Given the description of an element on the screen output the (x, y) to click on. 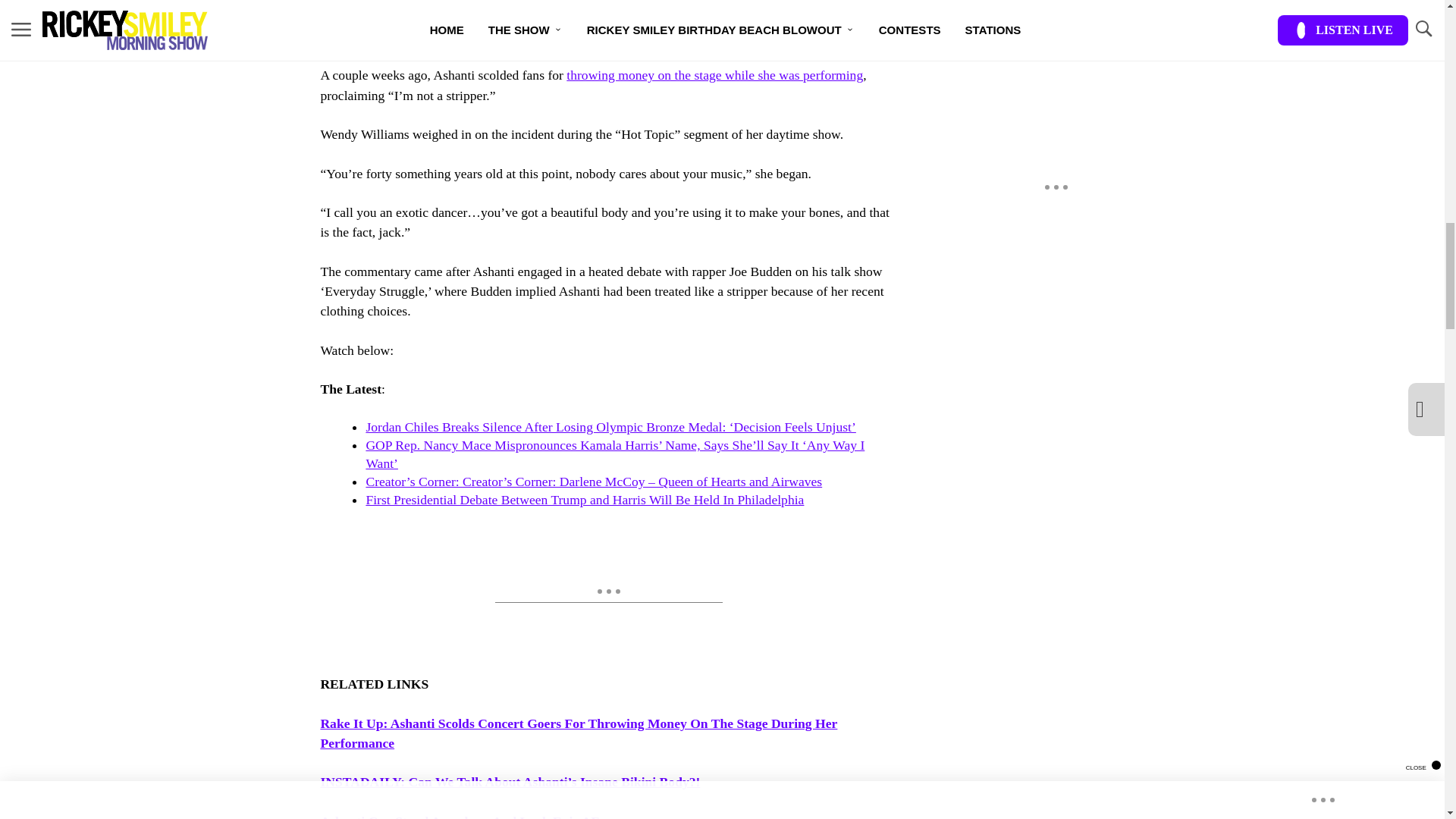
Ashanti Can Stand Anywhere And Look Epic AF (459, 816)
throwing money on the stage while she was performing (714, 74)
